Given the description of an element on the screen output the (x, y) to click on. 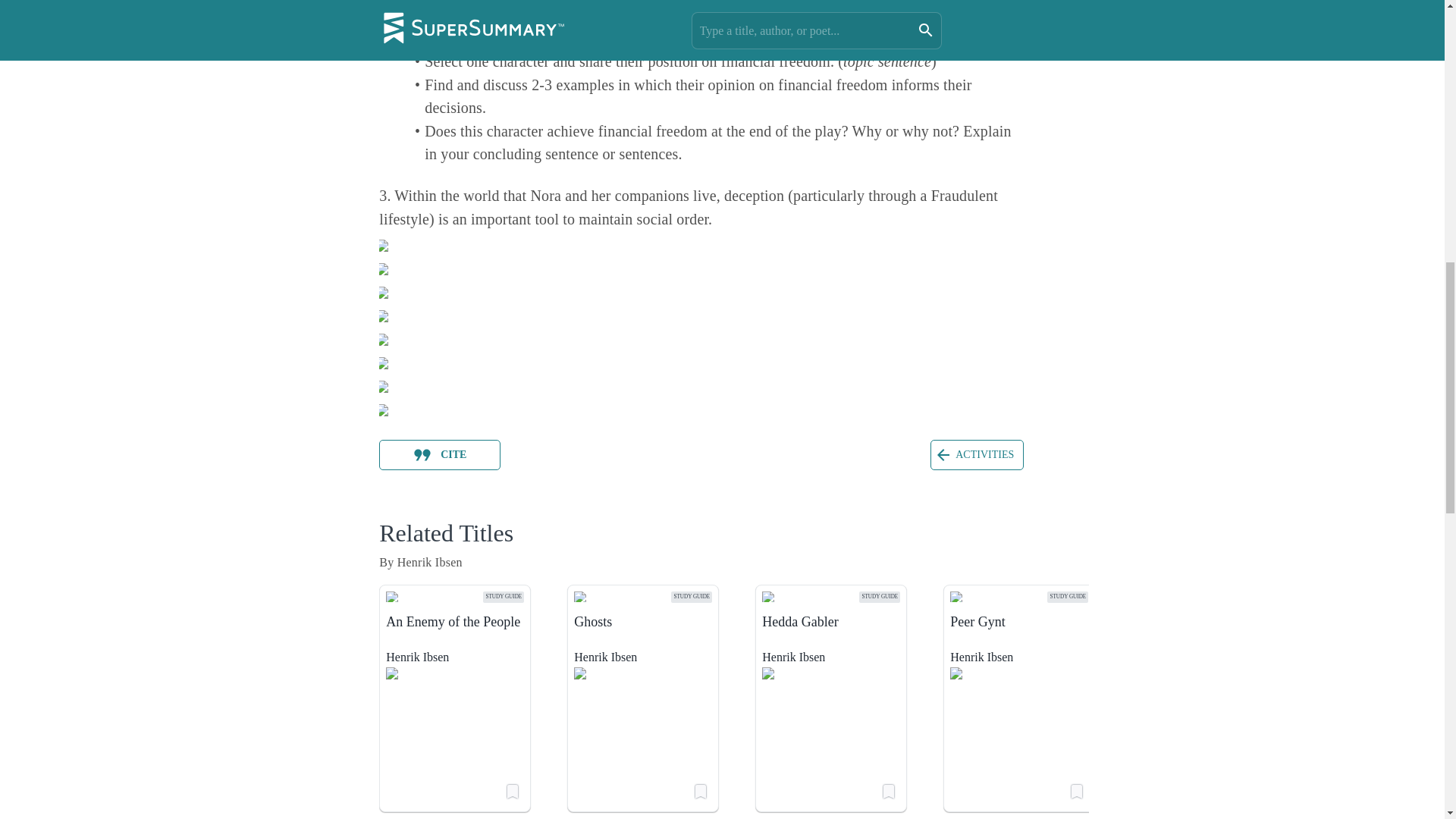
CITE (439, 454)
ACTIVITIES (976, 453)
ACTIVITIES (976, 454)
